Given the description of an element on the screen output the (x, y) to click on. 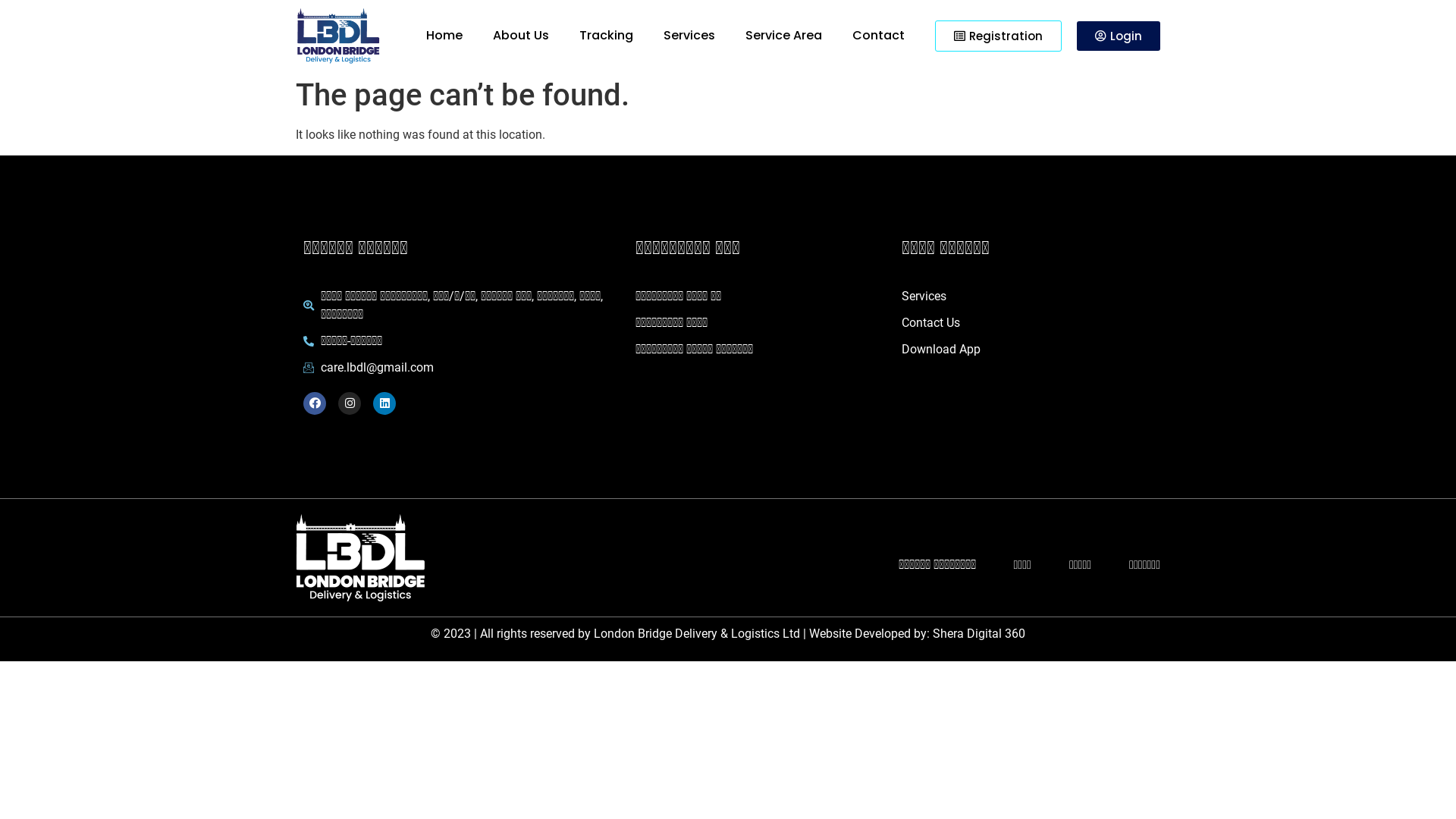
Contact Element type: text (878, 35)
Service Area Element type: text (783, 35)
Services Element type: text (1026, 296)
Services Element type: text (689, 35)
Download App Element type: text (1026, 349)
Registration Element type: text (998, 35)
Contact Us Element type: text (1026, 322)
About Us Element type: text (520, 35)
Tracking Element type: text (606, 35)
Login Element type: text (1118, 35)
Home Element type: text (444, 35)
